Given the description of an element on the screen output the (x, y) to click on. 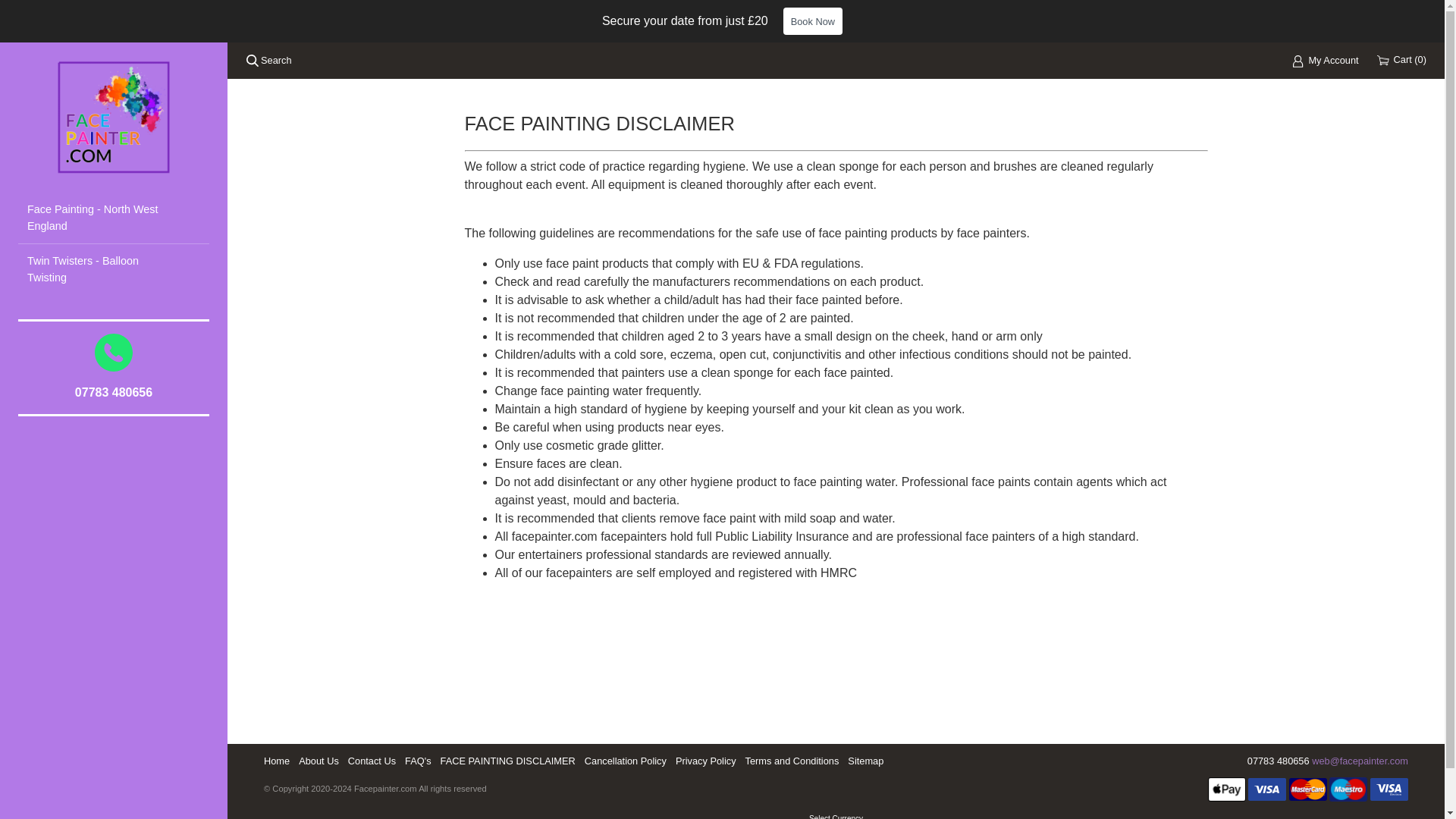
Sitemap (865, 760)
Book Now (813, 21)
Face Painting - North West England (113, 217)
Cancellation Policy (625, 760)
Privacy Policy (705, 760)
My Account (1325, 60)
Terms and Conditions (792, 760)
About Us (318, 760)
FACE PAINTING DISCLAIMER (508, 760)
Twin Twisters - Balloon Twisting (113, 269)
Contact Us (371, 760)
Home (276, 760)
FAQ's (417, 760)
